Given the description of an element on the screen output the (x, y) to click on. 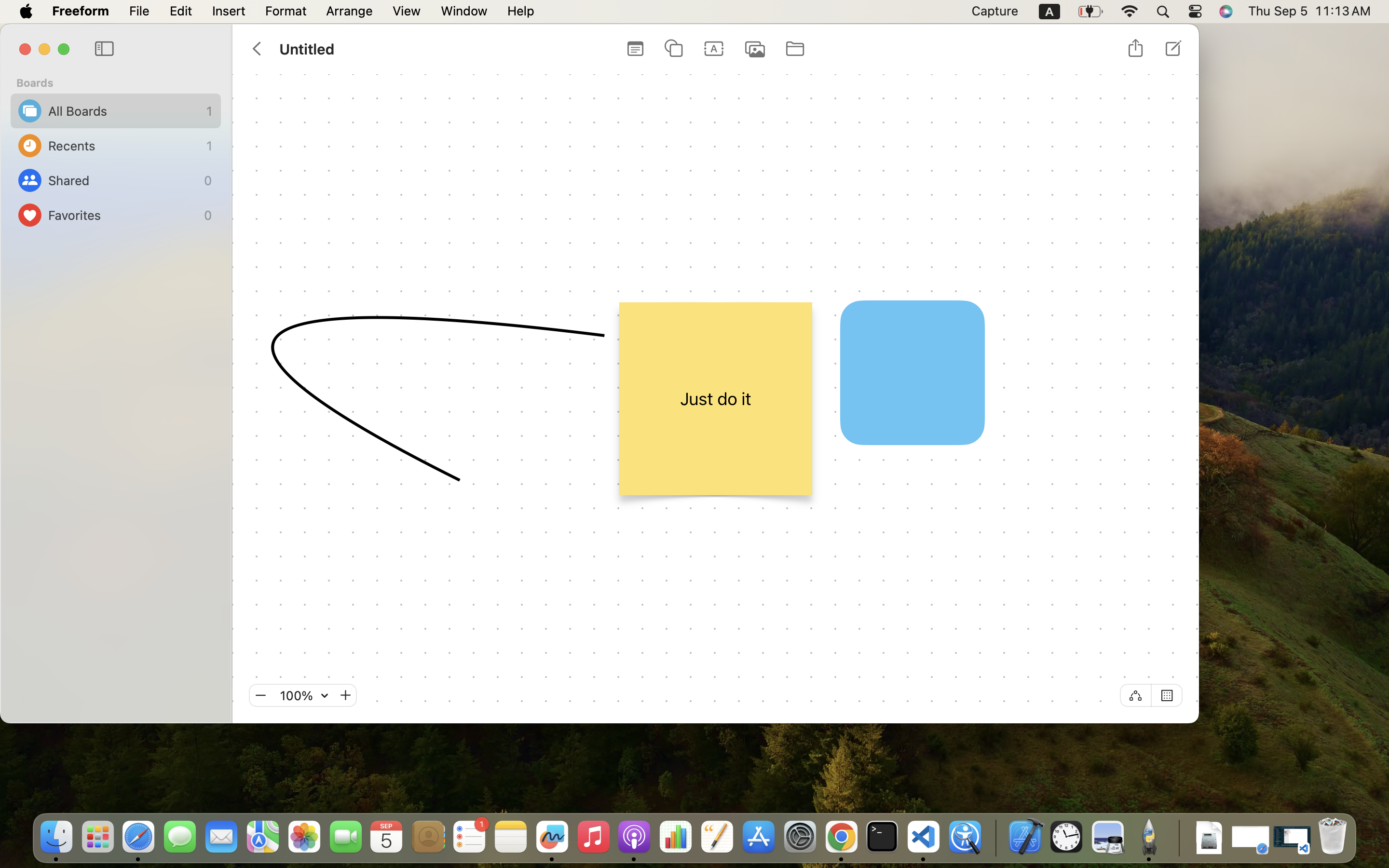
Favorites Element type: AXStaticText (123, 214)
